Given the description of an element on the screen output the (x, y) to click on. 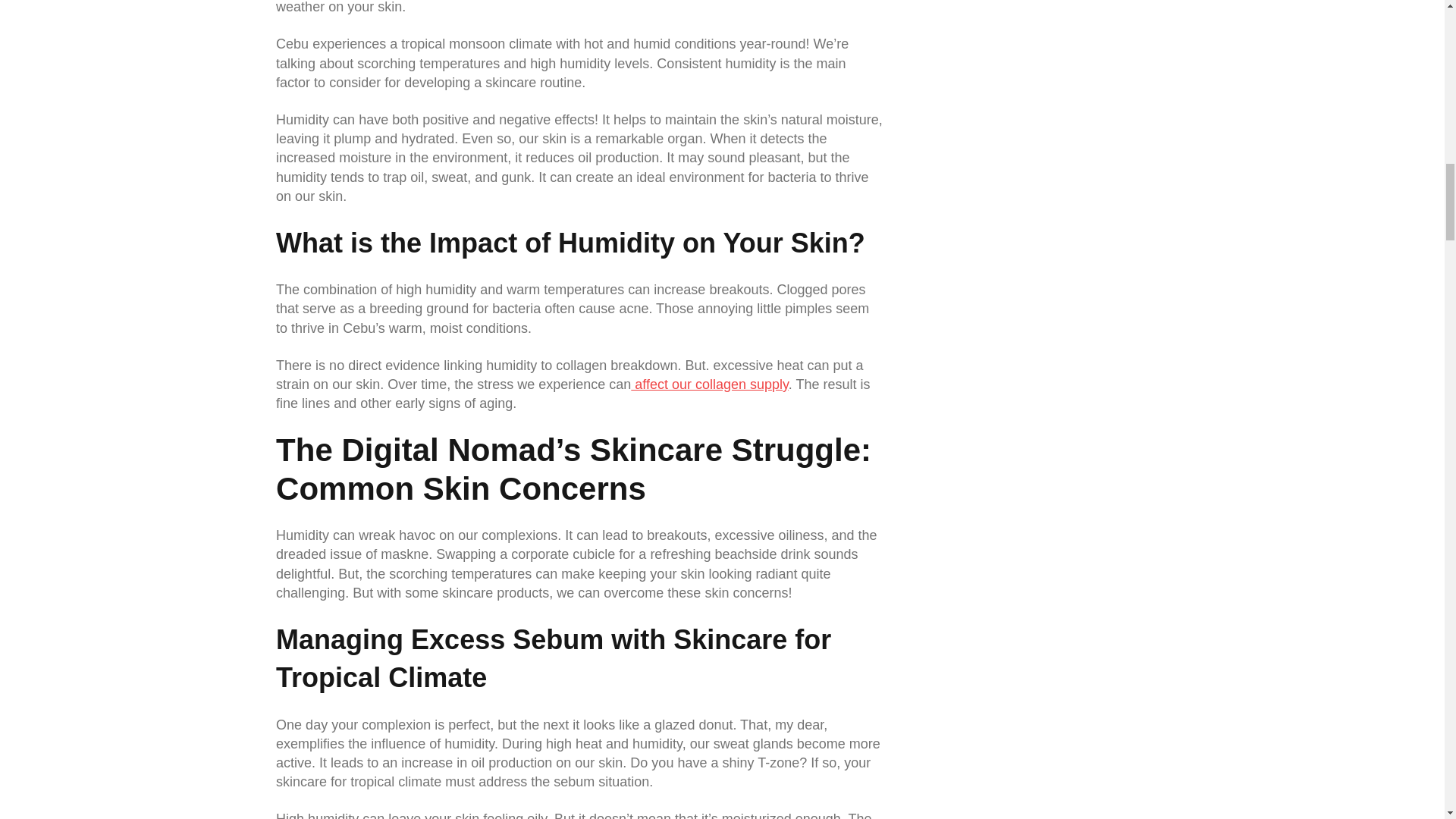
affect our collagen supply (708, 384)
